Given the description of an element on the screen output the (x, y) to click on. 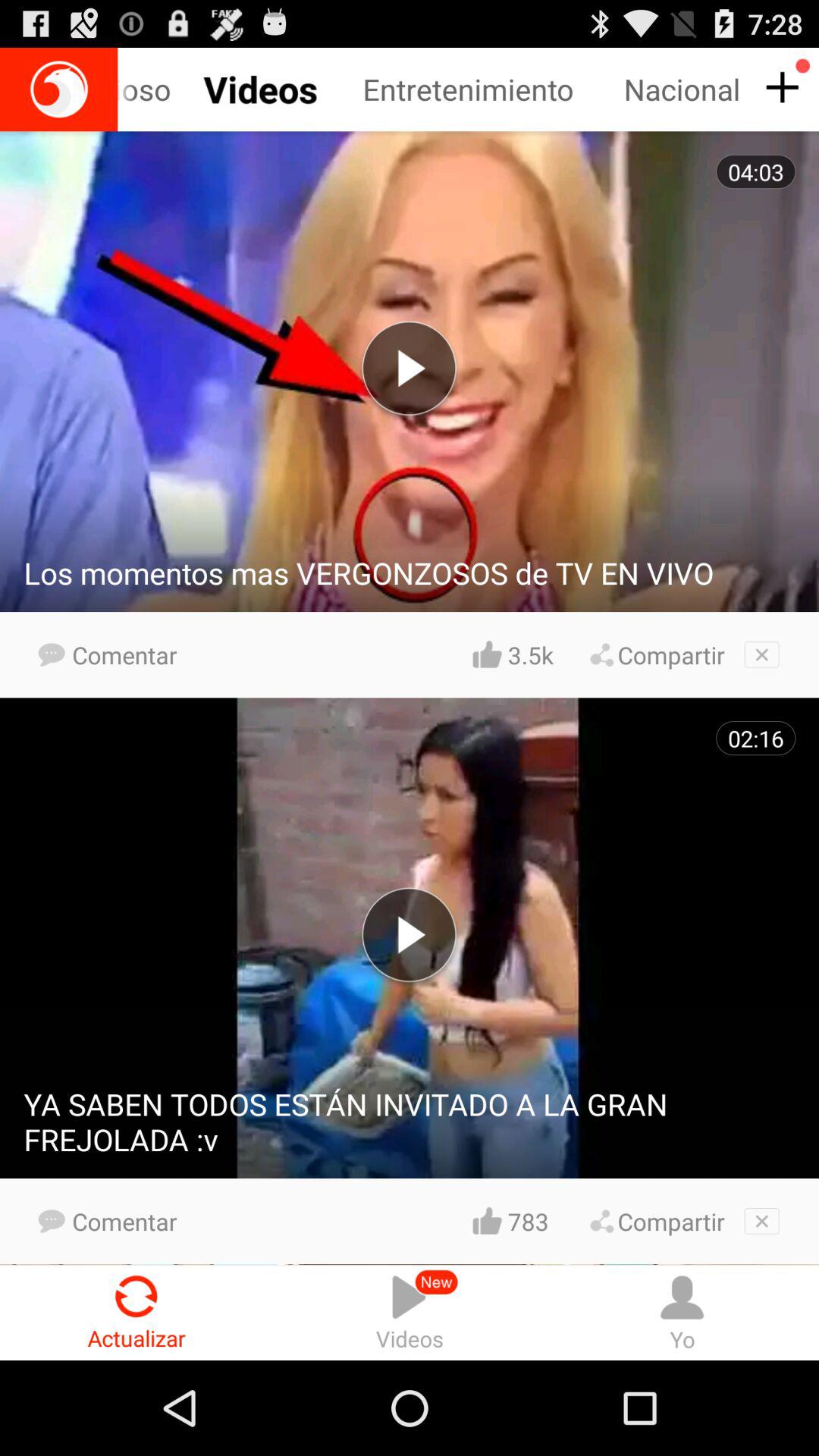
open actualizar item (136, 1312)
